Given the description of an element on the screen output the (x, y) to click on. 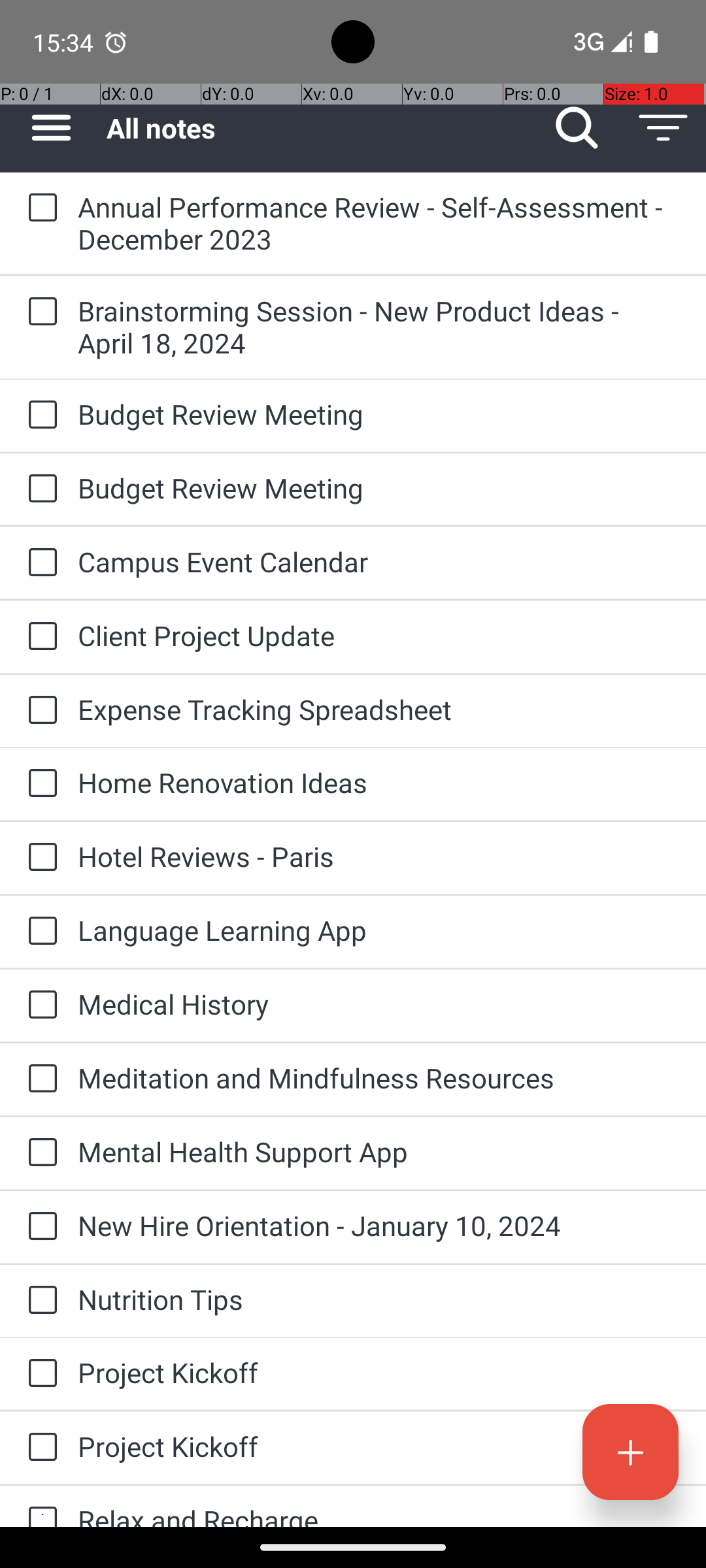
to-do: Brainstorming Session - New Product Ideas - April 18, 2024 Element type: android.widget.CheckBox (38, 312)
Brainstorming Session - New Product Ideas - April 18, 2024 Element type: android.widget.TextView (378, 326)
to-do: Campus Event Calendar Element type: android.widget.CheckBox (38, 563)
Campus Event Calendar Element type: android.widget.TextView (378, 561)
to-do: Client Project Update Element type: android.widget.CheckBox (38, 636)
Client Project Update Element type: android.widget.TextView (378, 634)
to-do: Expense Tracking Spreadsheet Element type: android.widget.CheckBox (38, 710)
Expense Tracking Spreadsheet Element type: android.widget.TextView (378, 708)
to-do: Home Renovation Ideas Element type: android.widget.CheckBox (38, 783)
Home Renovation Ideas Element type: android.widget.TextView (378, 781)
to-do: Language Learning App Element type: android.widget.CheckBox (38, 931)
Language Learning App Element type: android.widget.TextView (378, 929)
to-do: Medical History Element type: android.widget.CheckBox (38, 1005)
Medical History Element type: android.widget.TextView (378, 1003)
to-do: Meditation and Mindfulness Resources Element type: android.widget.CheckBox (38, 1079)
Meditation and Mindfulness Resources Element type: android.widget.TextView (378, 1077)
to-do: Mental Health Support App Element type: android.widget.CheckBox (38, 1153)
Mental Health Support App Element type: android.widget.TextView (378, 1151)
to-do: Relax and Recharge Element type: android.widget.CheckBox (38, 1505)
Relax and Recharge Element type: android.widget.TextView (378, 1513)
